Given the description of an element on the screen output the (x, y) to click on. 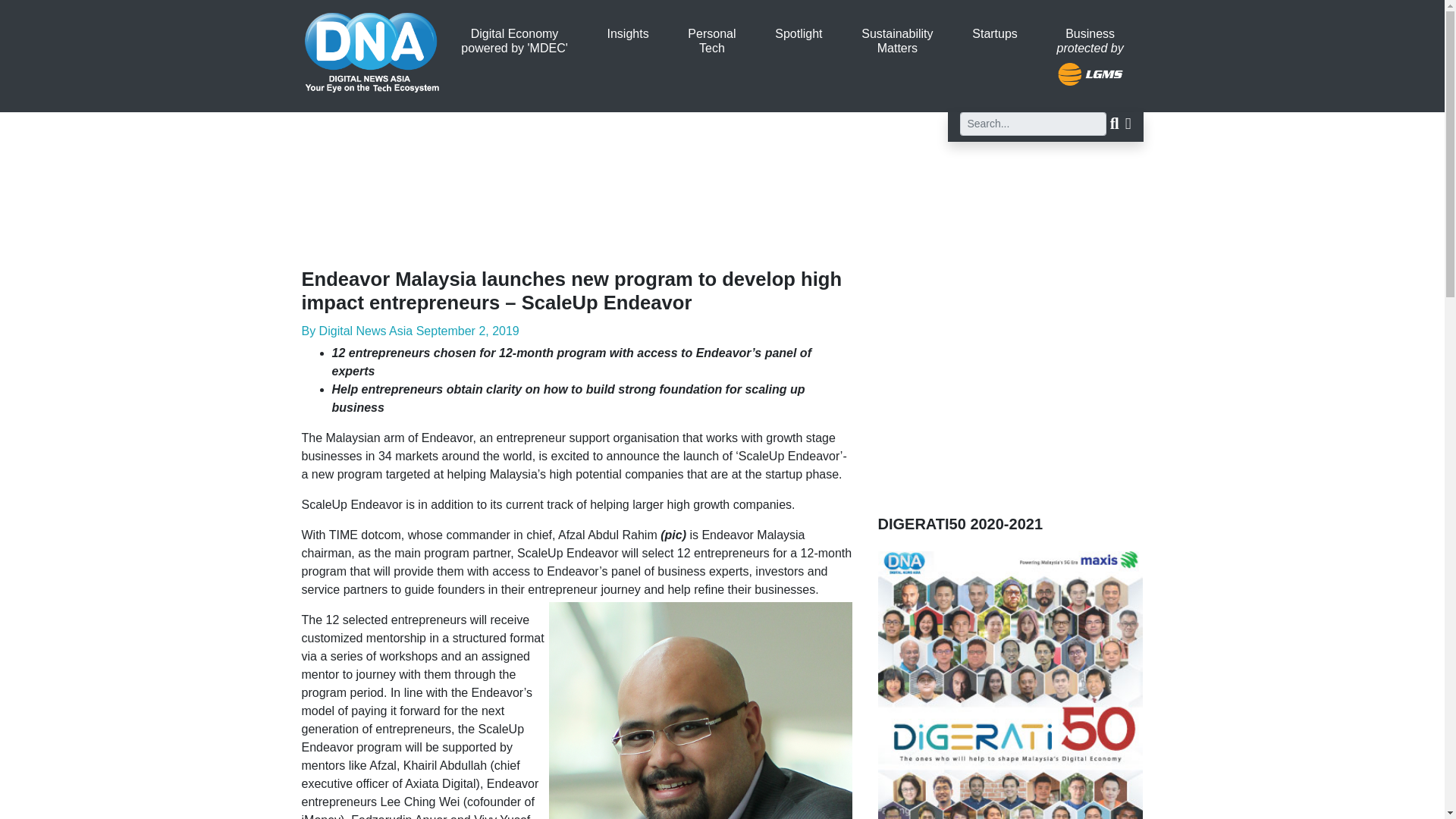
Insights (628, 33)
Skip to main content (711, 40)
Home (513, 40)
